Given the description of an element on the screen output the (x, y) to click on. 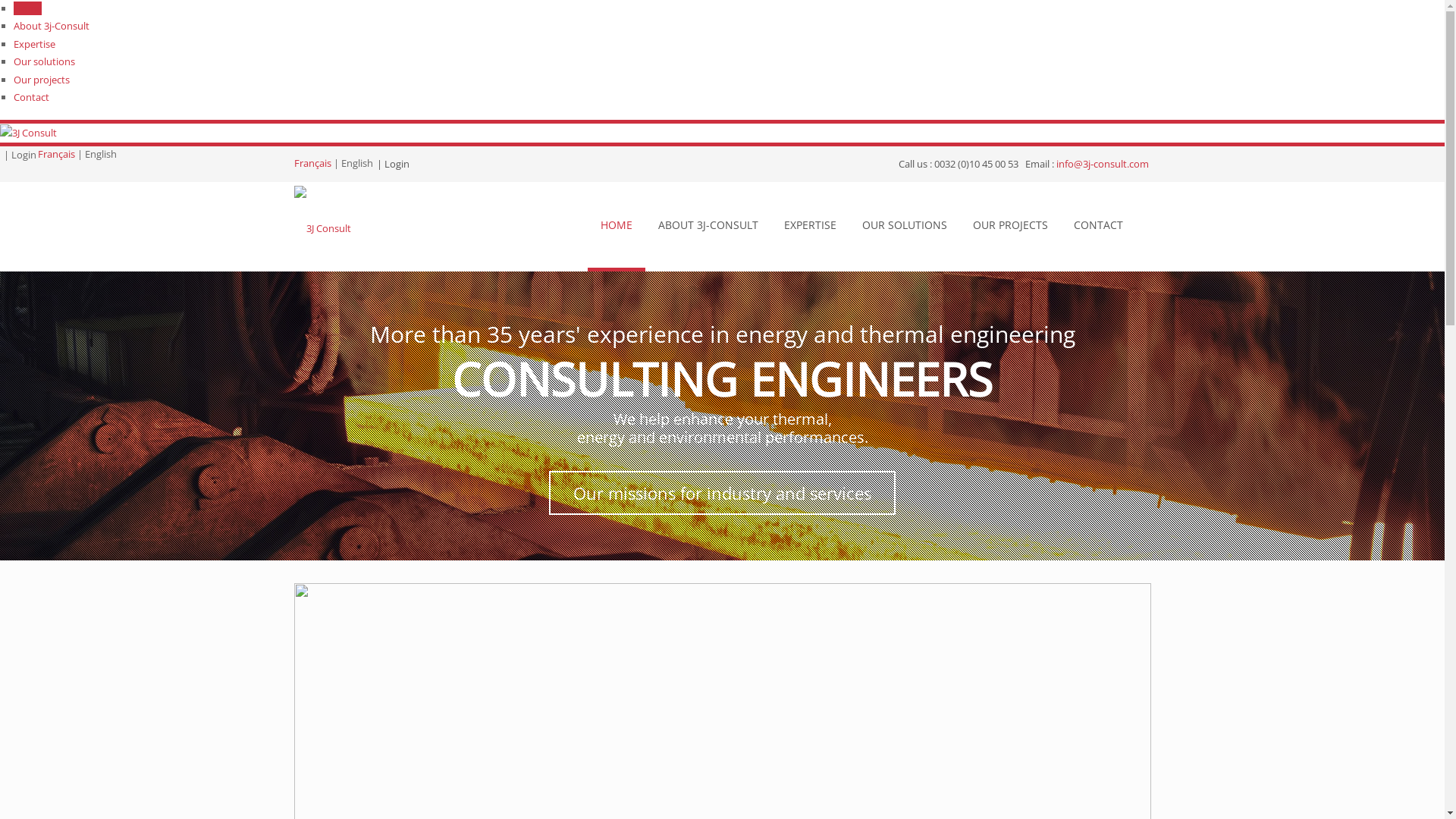
Home Element type: text (27, 8)
OUR SOLUTIONS Element type: text (904, 226)
CONTACT Element type: text (1097, 226)
About 3j-Consult Element type: text (51, 25)
Our projects Element type: text (41, 79)
3J Consult Element type: hover (322, 227)
Our missions for industry and services Element type: text (722, 492)
Login Element type: text (23, 154)
info@3j-consult.com Element type: text (1101, 163)
OUR PROJECTS Element type: text (1010, 226)
Contact Element type: text (31, 96)
Login Element type: text (395, 163)
Expertise Element type: text (34, 43)
ABOUT 3J-CONSULT Element type: text (707, 226)
3J Consult Element type: hover (28, 131)
HOME Element type: text (615, 226)
Our solutions Element type: text (44, 61)
EXPERTISE Element type: text (809, 226)
